Given the description of an element on the screen output the (x, y) to click on. 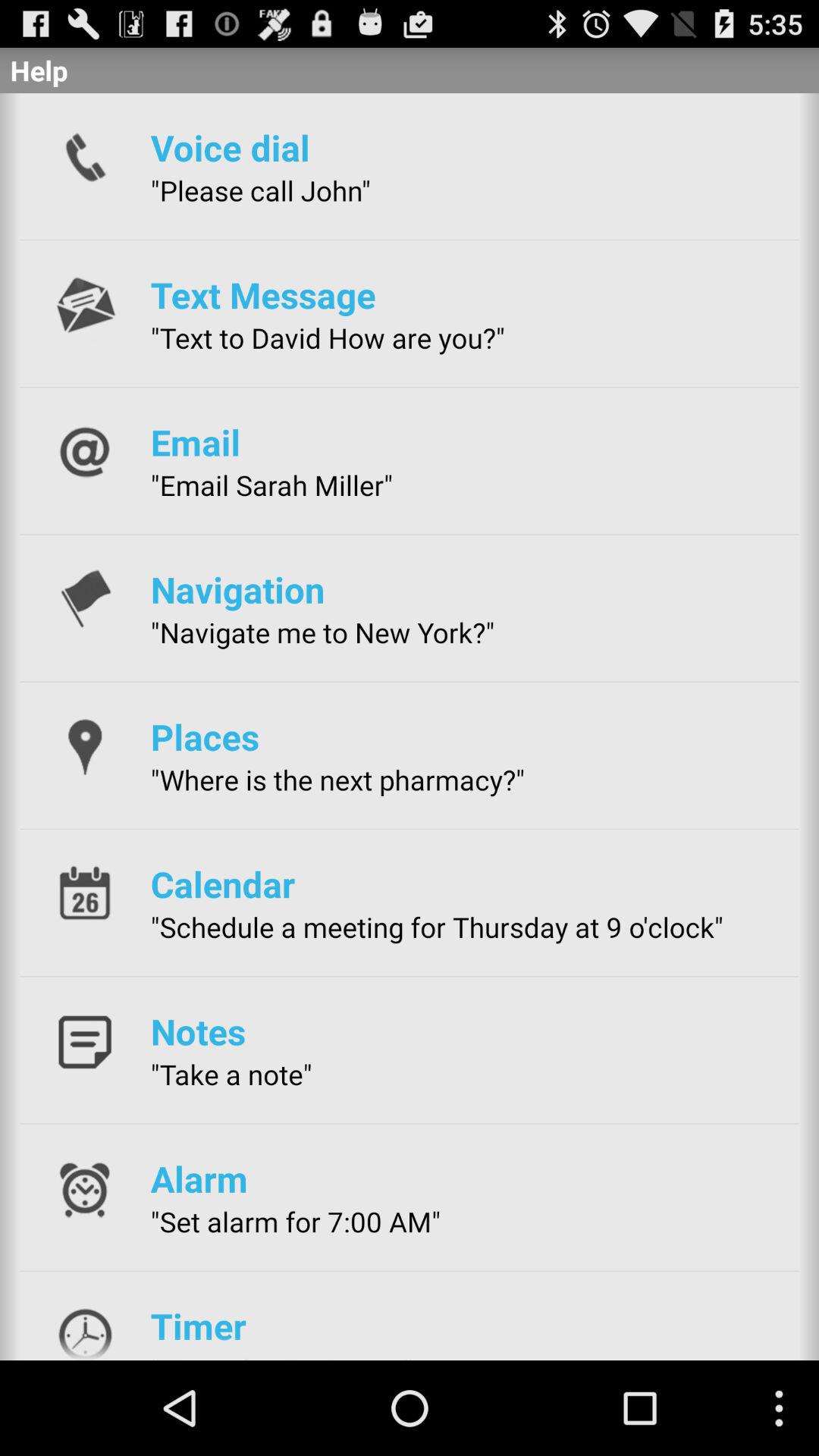
select the app below the places icon (337, 779)
